Given the description of an element on the screen output the (x, y) to click on. 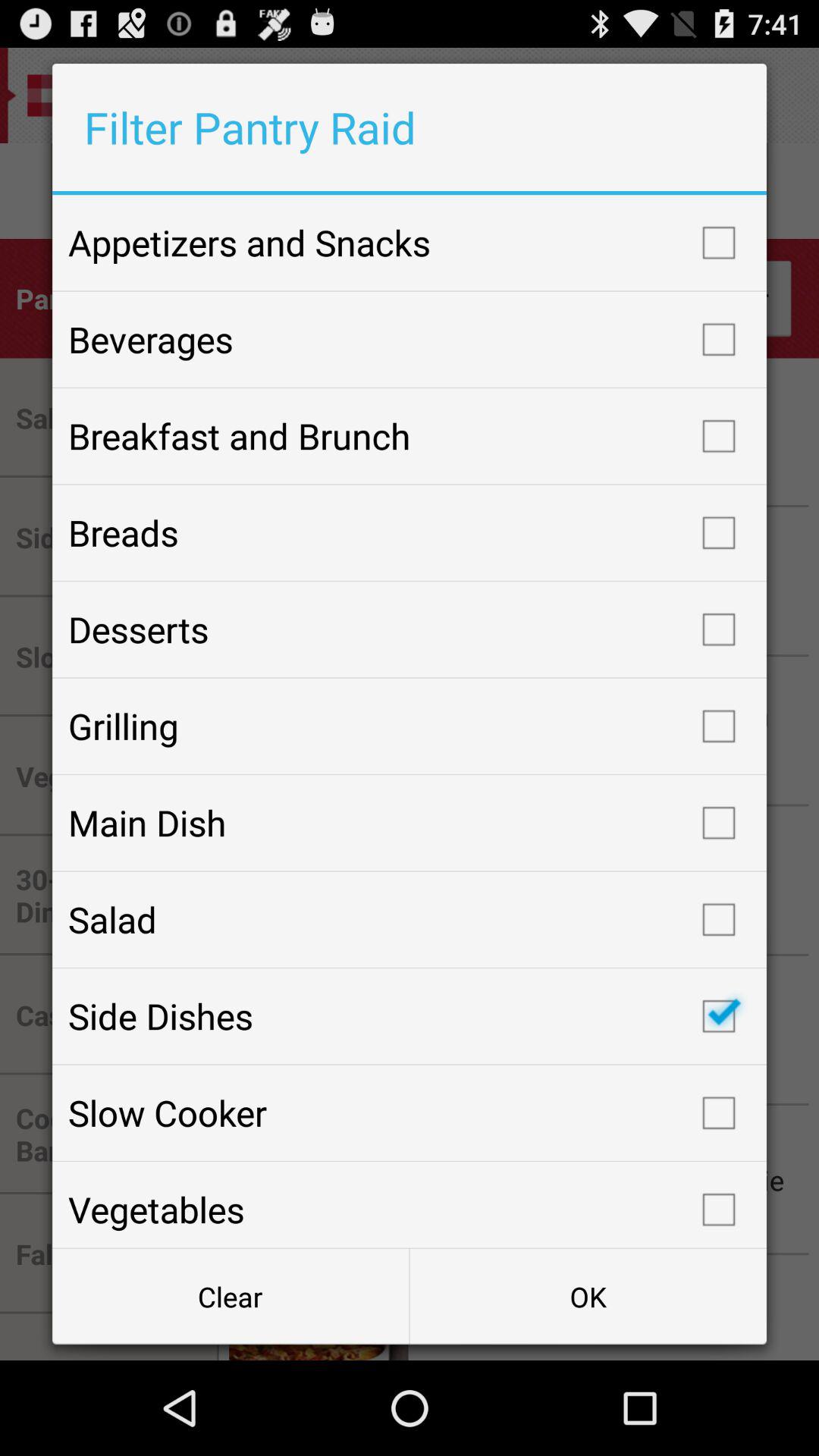
turn on side dishes (409, 1016)
